Given the description of an element on the screen output the (x, y) to click on. 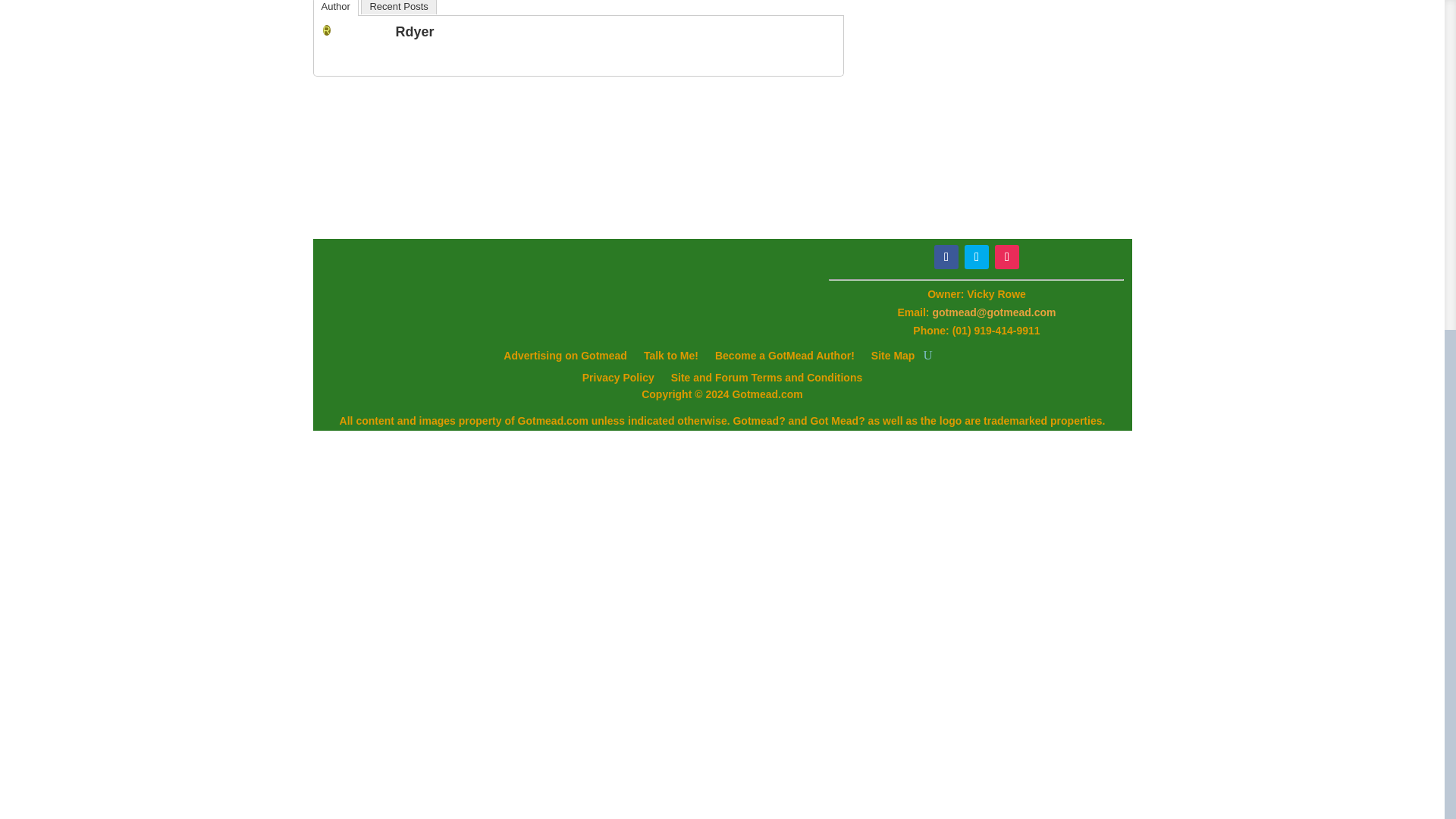
Follow on Twitter (975, 256)
Follow on Facebook (946, 256)
Follow on Instagram (1006, 256)
